Given the description of an element on the screen output the (x, y) to click on. 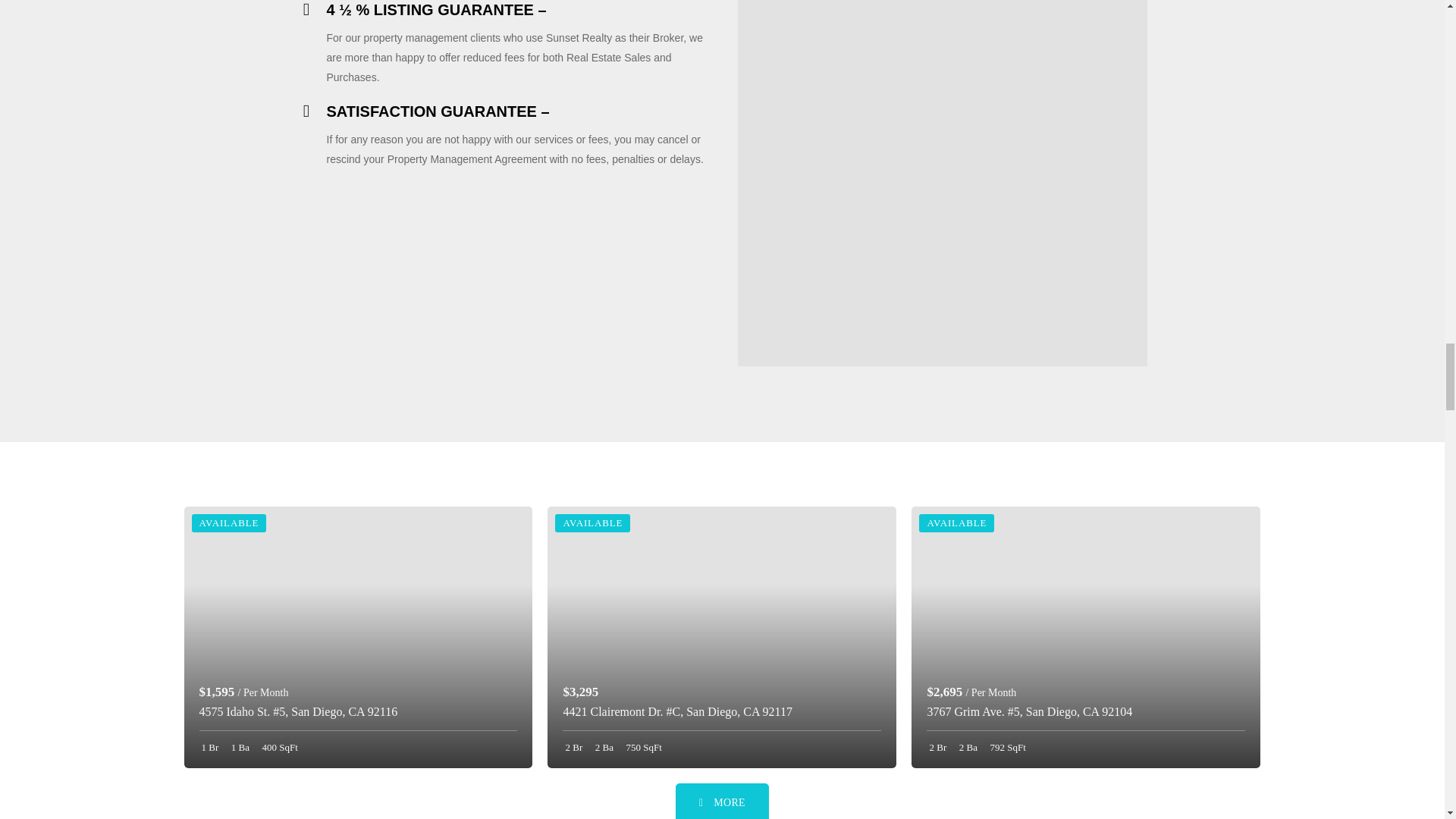
Size (278, 747)
Size (642, 747)
